Given the description of an element on the screen output the (x, y) to click on. 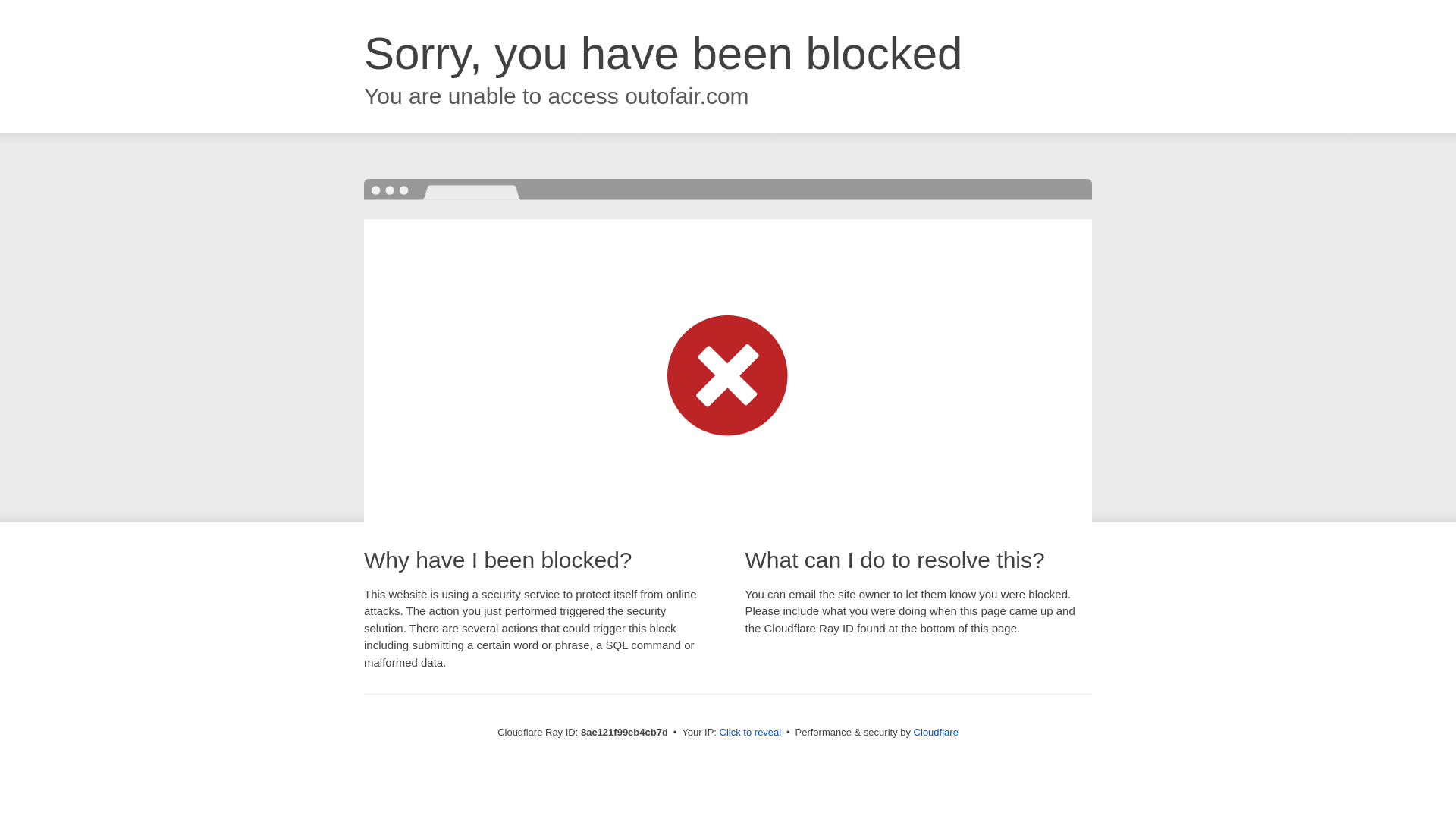
Click to reveal (750, 732)
Cloudflare (936, 731)
